Given the description of an element on the screen output the (x, y) to click on. 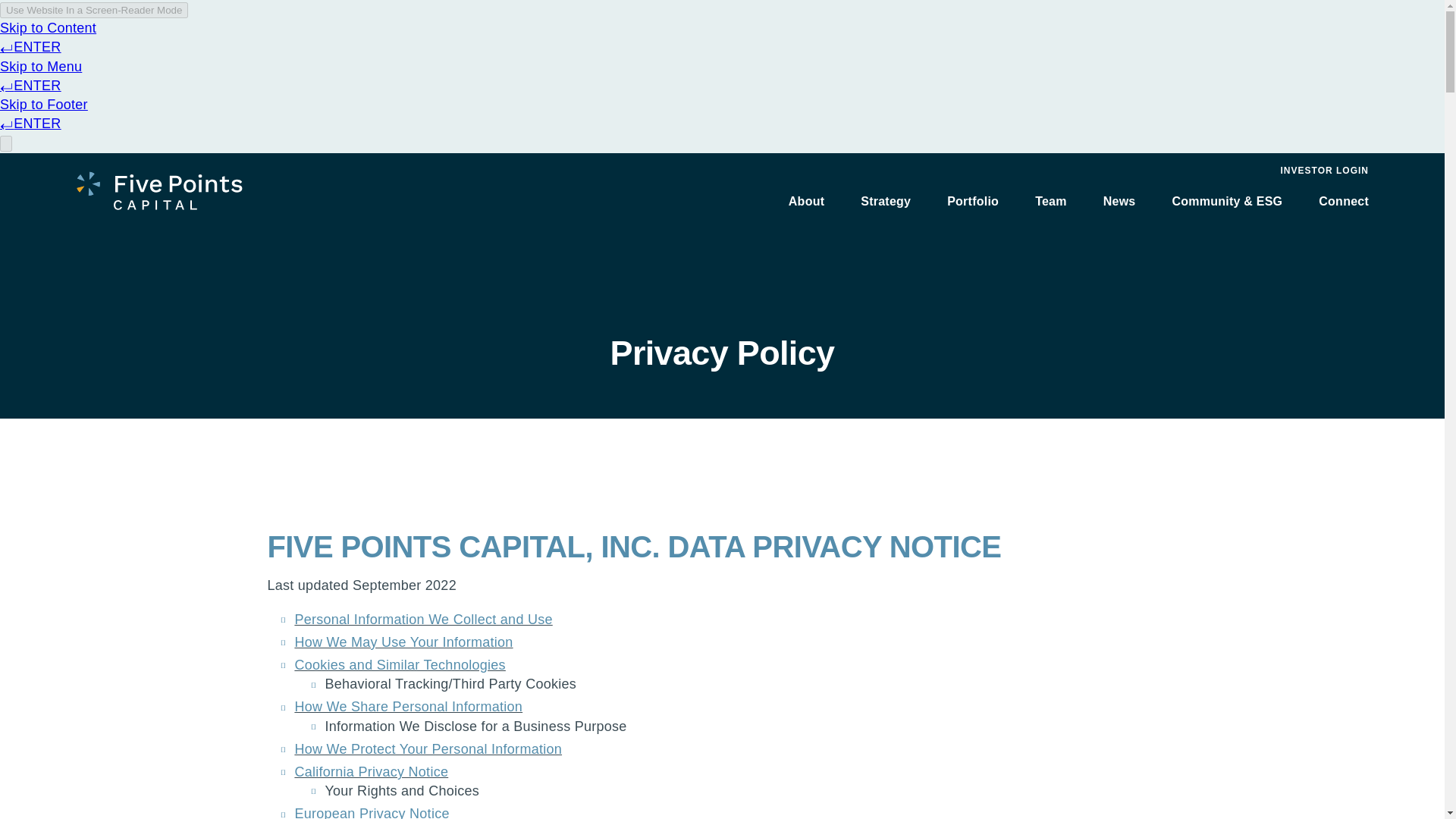
How We May Use Your Information (403, 642)
News (1119, 200)
Strategy (885, 200)
Personal Information We Collect and Use (422, 619)
How We Share Personal Information (408, 706)
Connect (1343, 200)
Cookies and Similar Technologies (399, 664)
How We Protect Your Personal Information (428, 749)
About (806, 200)
California Privacy Notice (371, 771)
Portfolio (972, 200)
Team (1051, 200)
